Given the description of an element on the screen output the (x, y) to click on. 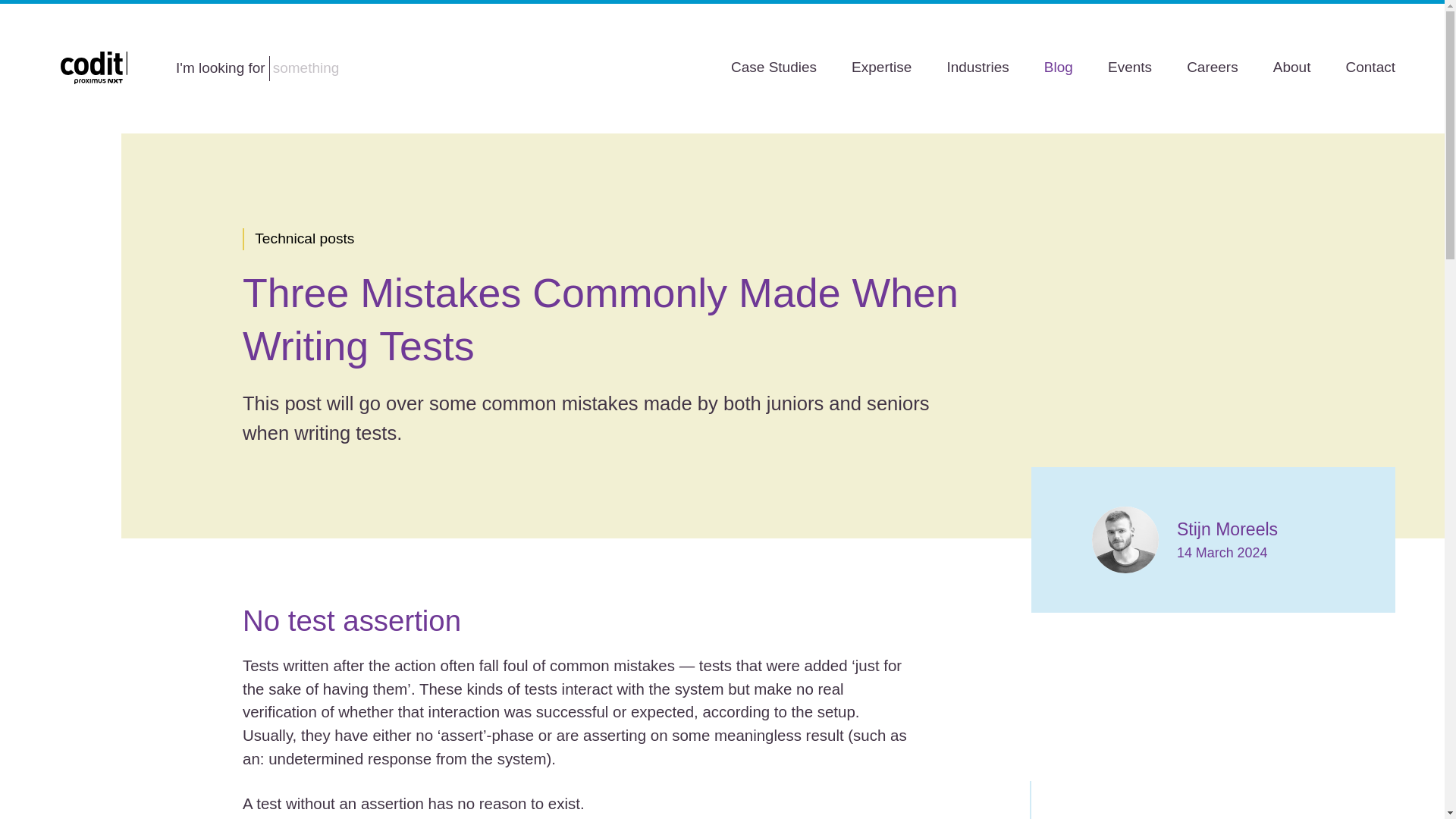
Industries (977, 67)
Case Studies (773, 67)
Careers (1212, 67)
Contact (1369, 67)
About (1291, 67)
Expertise (881, 67)
Events (1129, 67)
Technical posts (304, 239)
Blog (1058, 67)
